Given the description of an element on the screen output the (x, y) to click on. 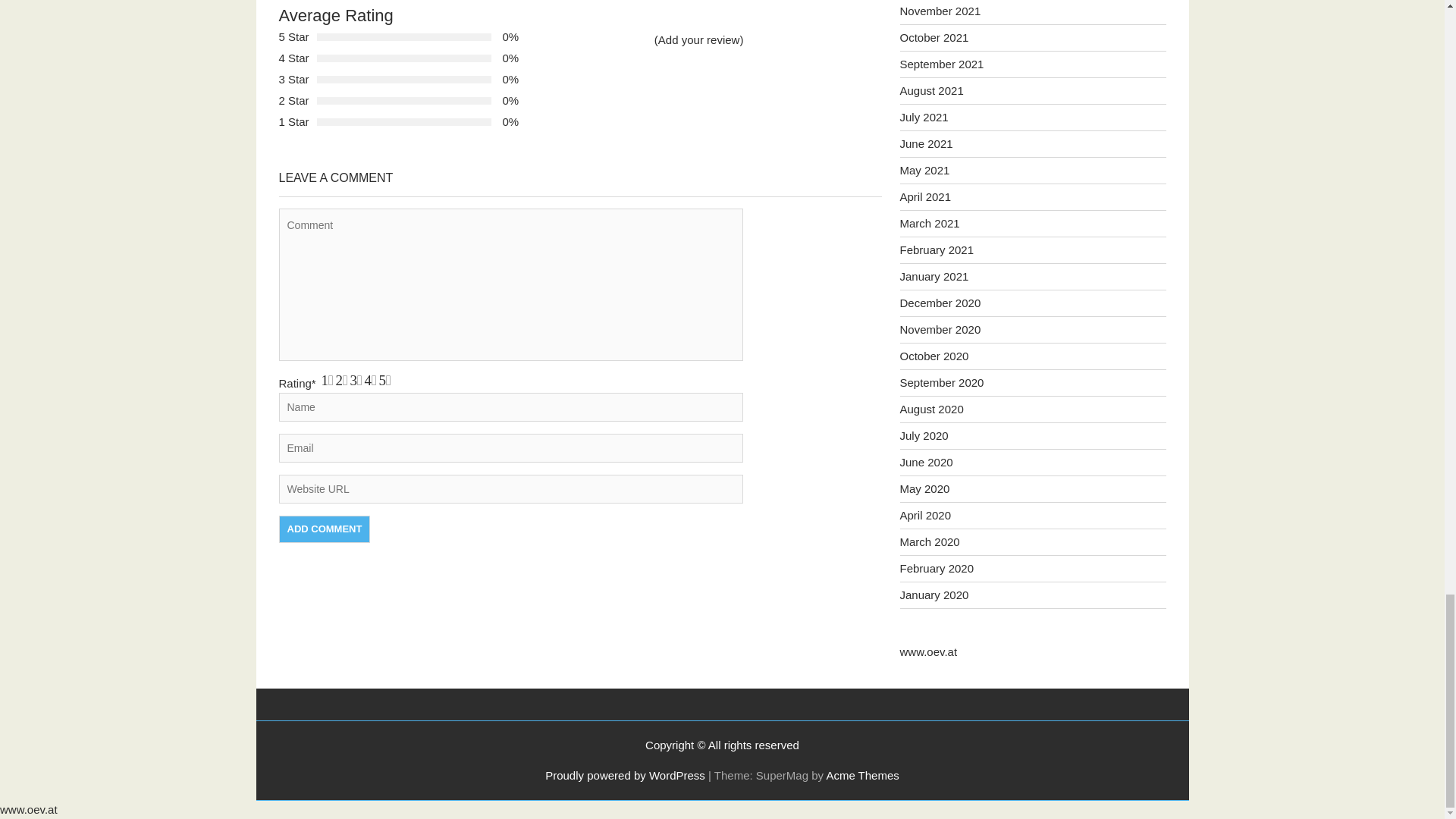
Add Comment (325, 528)
